Given the description of an element on the screen output the (x, y) to click on. 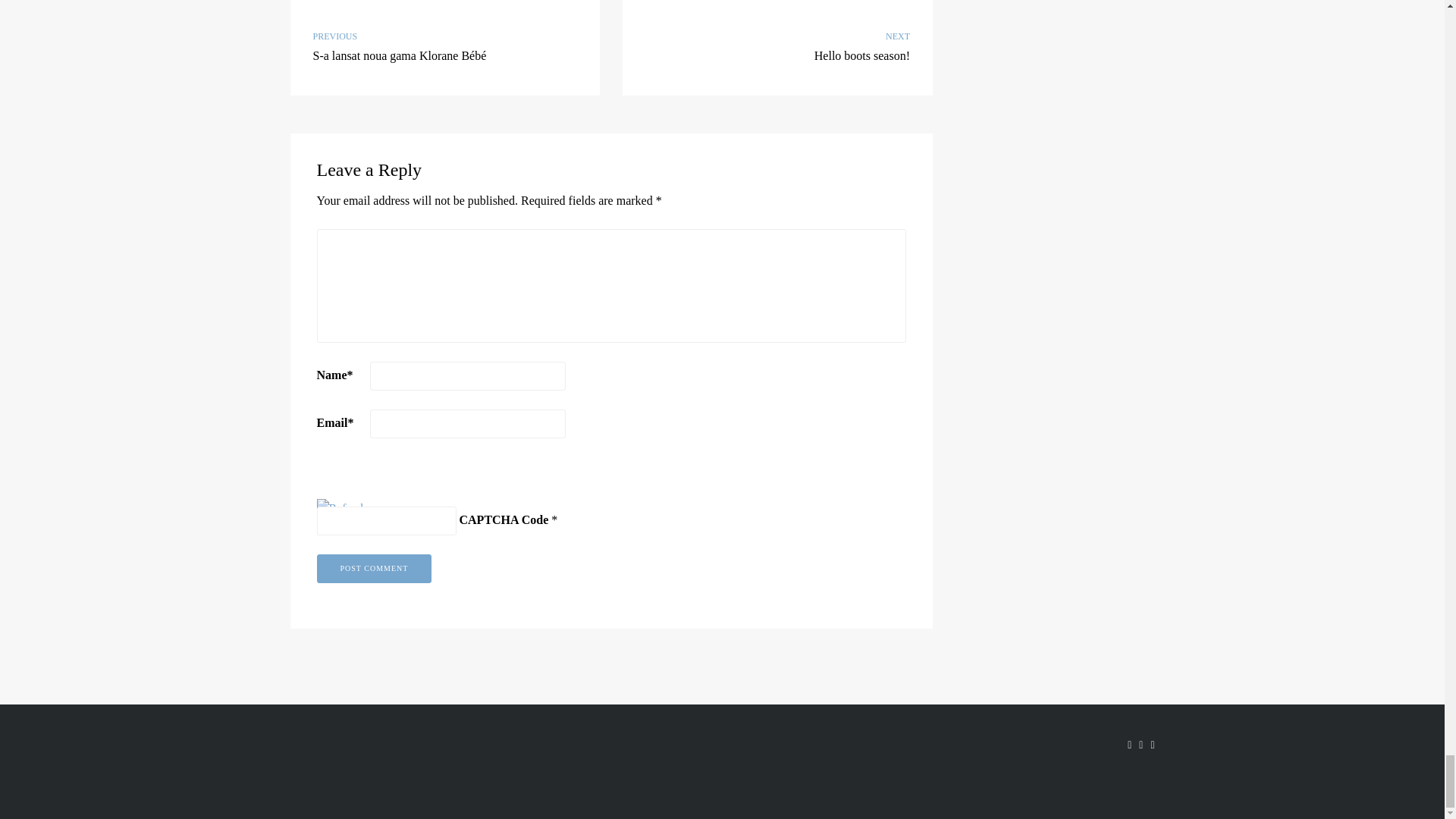
Refresh (341, 508)
CAPTCHA (366, 481)
Post comment (374, 568)
